Given the description of an element on the screen output the (x, y) to click on. 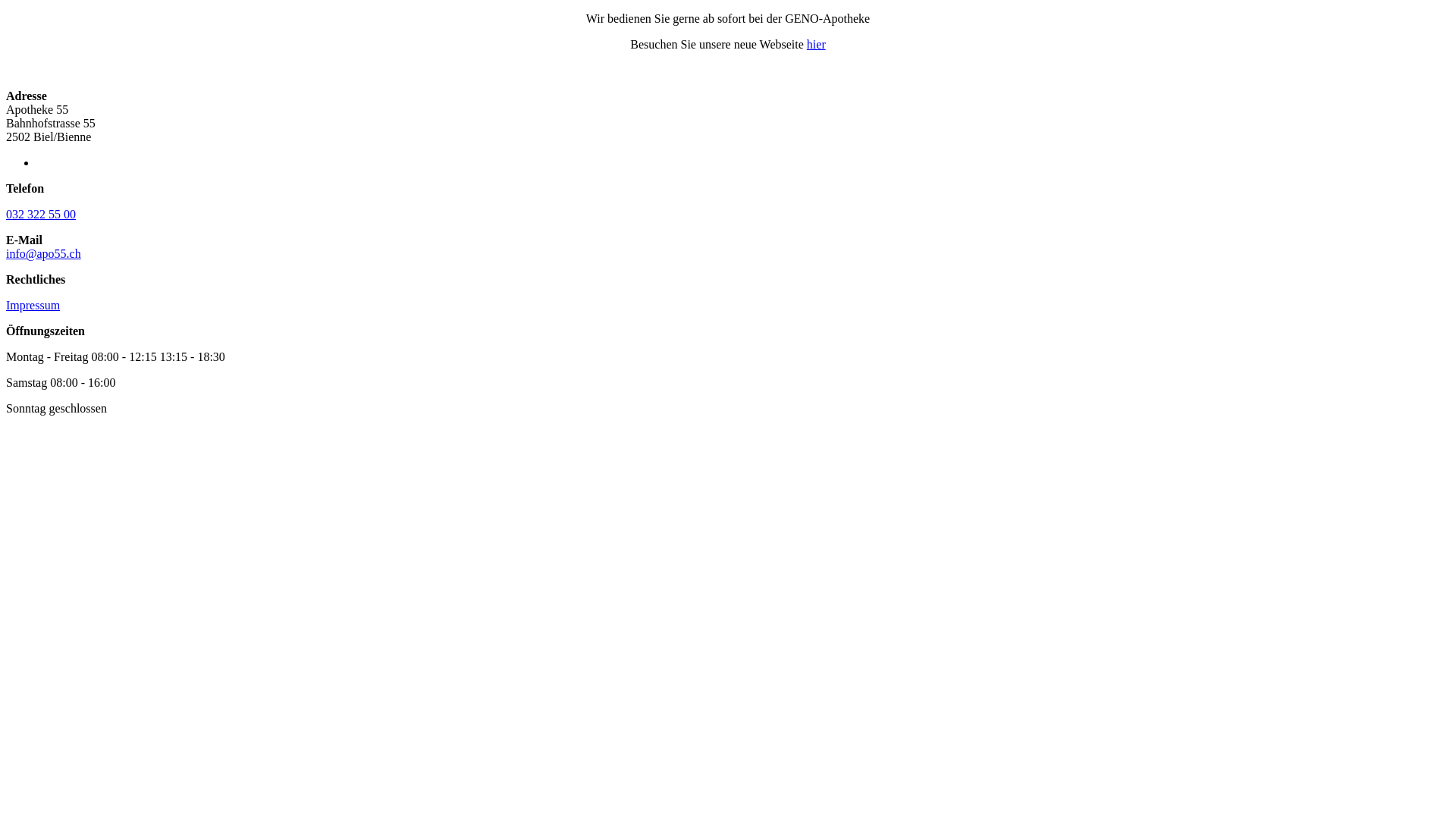
info@apo55.ch Element type: text (43, 253)
hier Element type: text (815, 43)
032 322 55 00 Element type: text (40, 213)
Impressum Element type: text (32, 304)
